Given the description of an element on the screen output the (x, y) to click on. 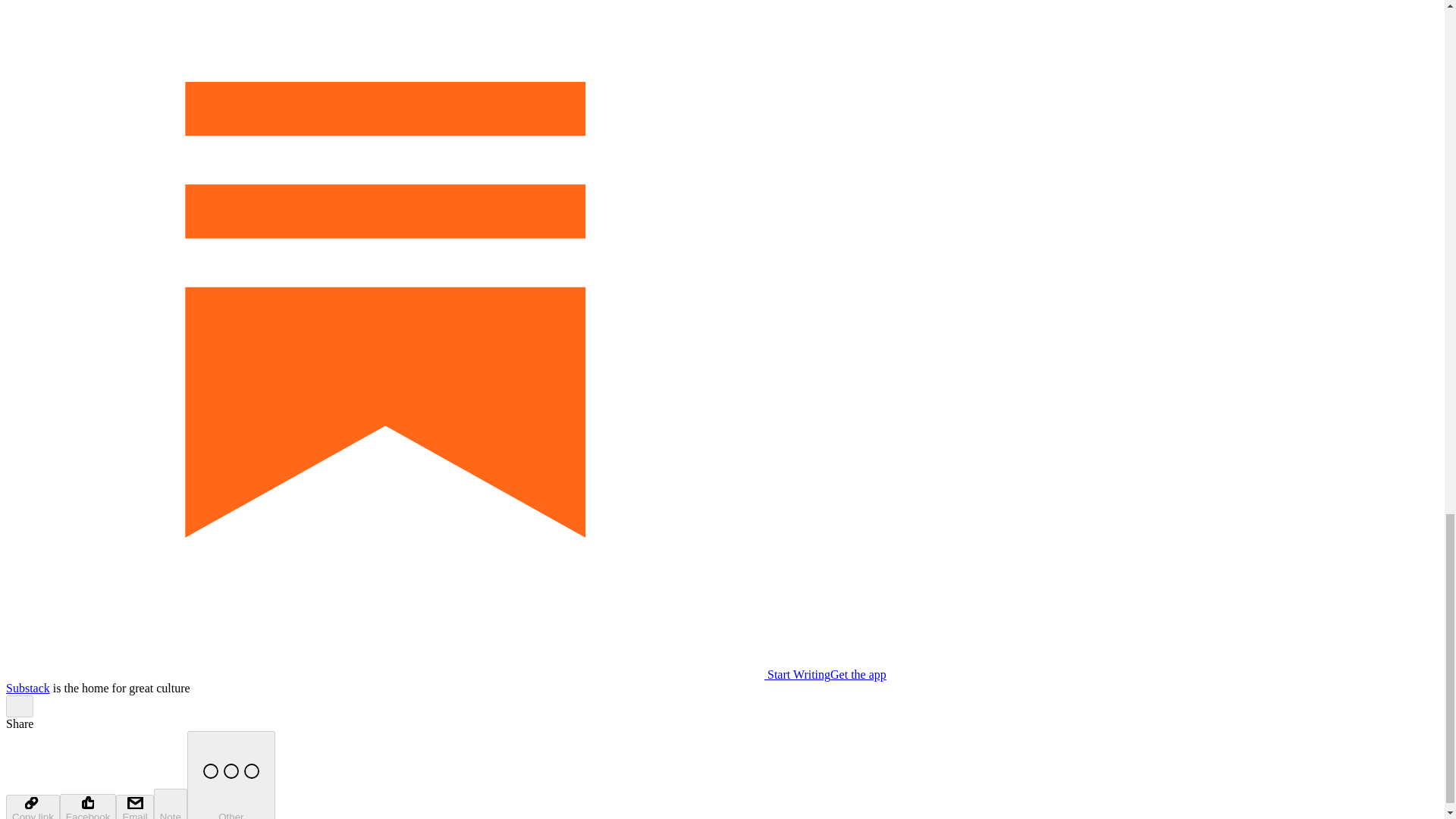
Substack (27, 687)
Start Writing (417, 674)
Get the app (857, 674)
